Given the description of an element on the screen output the (x, y) to click on. 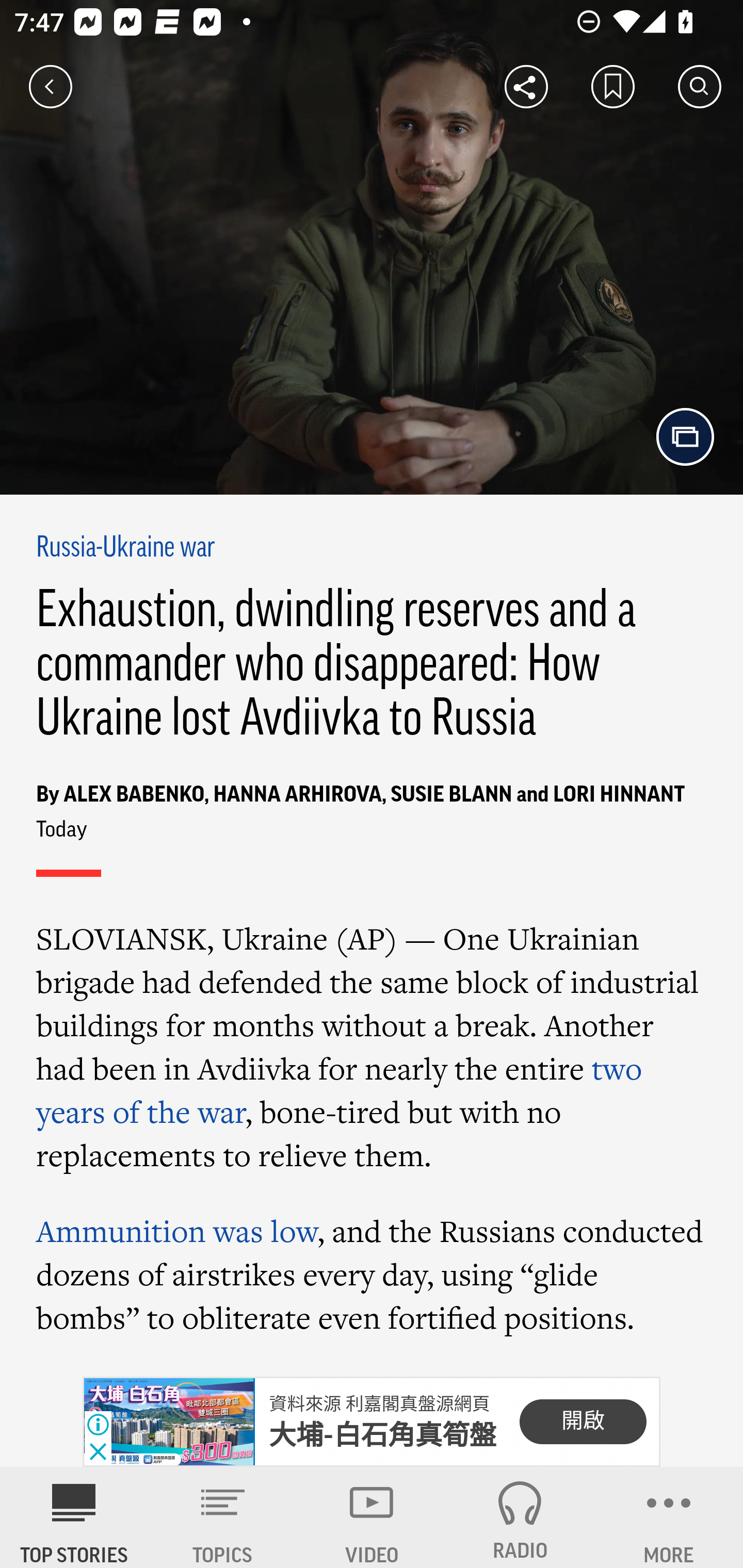
Russia-Ukraine war (126, 548)
two years of the war (339, 1090)
Ammunition was low (177, 1230)
B30001746 (168, 1421)
資料來源 利嘉閣真盤源網頁 (379, 1403)
開啟 (582, 1421)
大埔-白石角真筍盤 (382, 1434)
AP News TOP STORIES (74, 1517)
TOPICS (222, 1517)
VIDEO (371, 1517)
RADIO (519, 1517)
MORE (668, 1517)
